Given the description of an element on the screen output the (x, y) to click on. 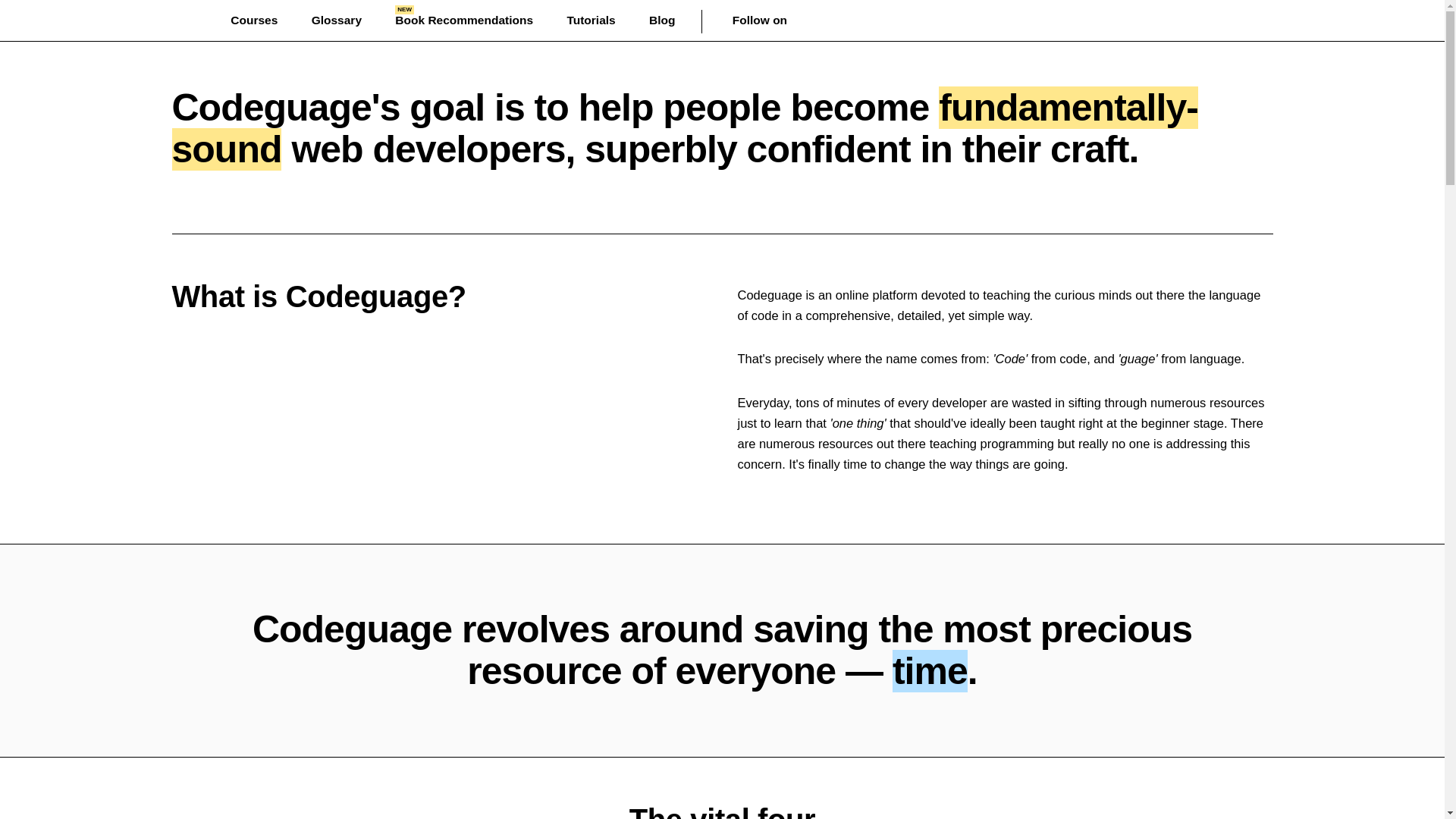
Tutorials (590, 19)
Follow on (463, 19)
Blog (772, 19)
Glossary (662, 19)
Courses (336, 19)
